Given the description of an element on the screen output the (x, y) to click on. 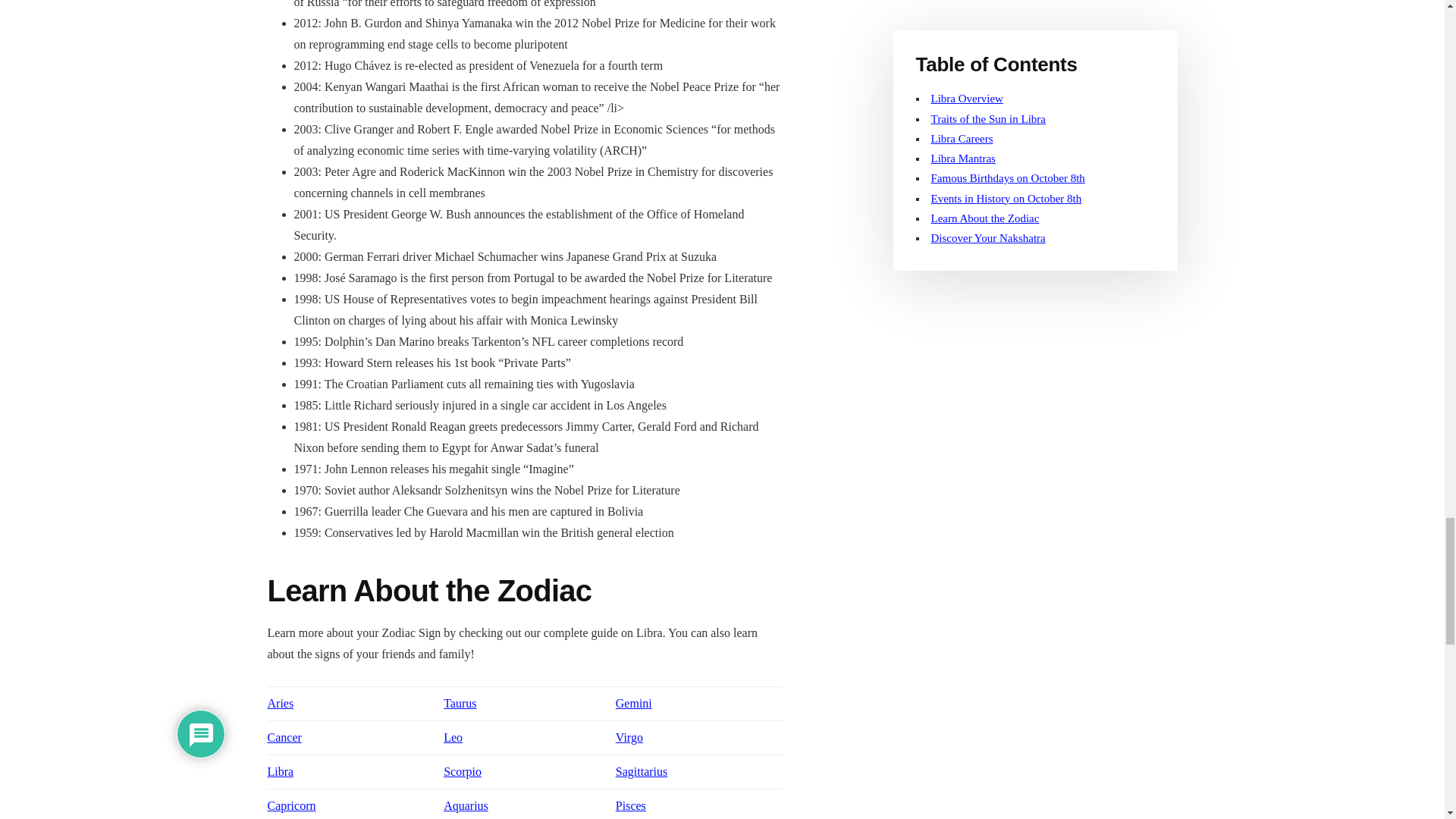
Taurus (460, 703)
Gemini (633, 703)
Aries (280, 703)
Cancer (283, 737)
Leo (453, 737)
Virgo (629, 737)
